Given the description of an element on the screen output the (x, y) to click on. 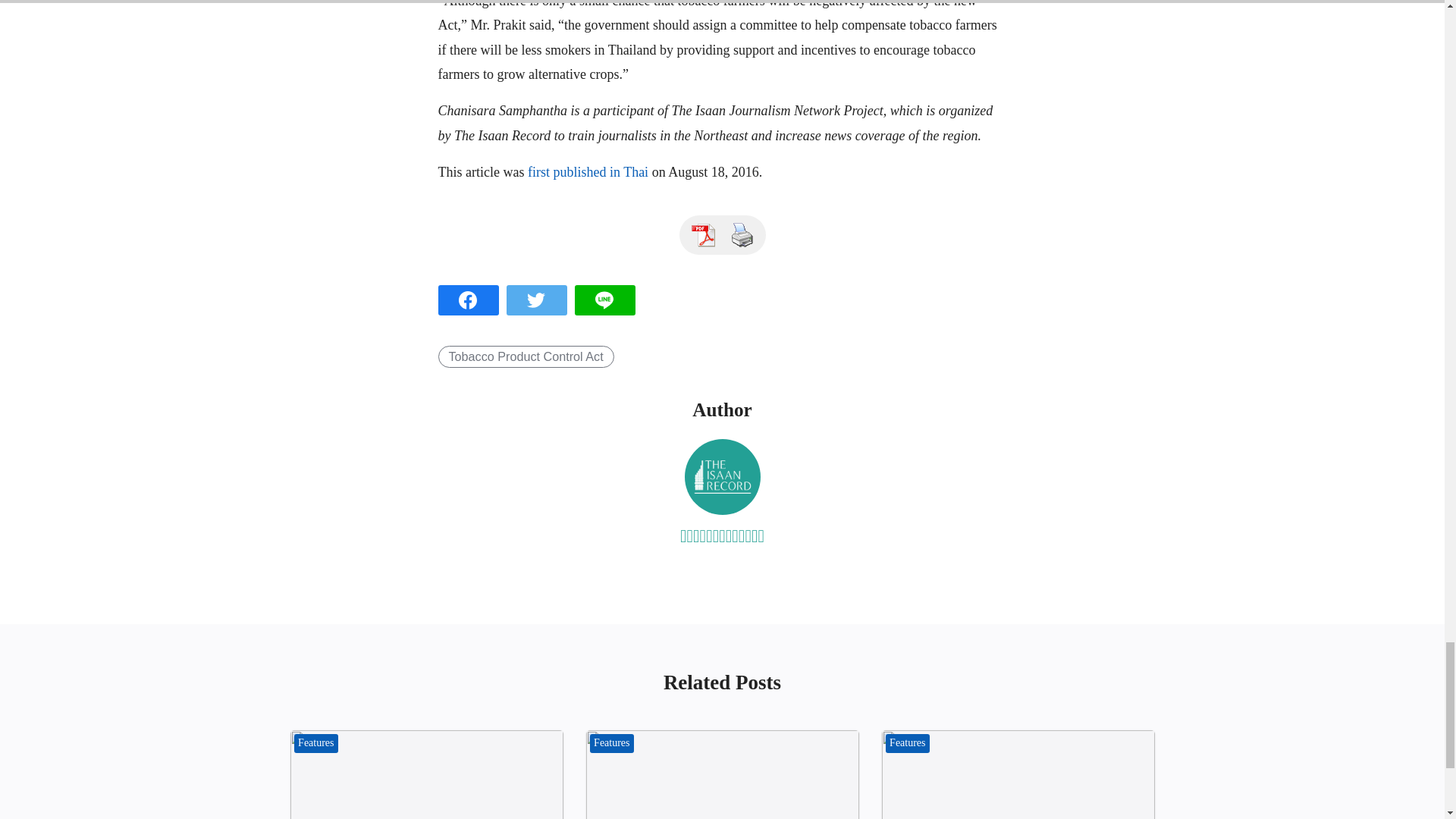
Features (316, 742)
View PDF (703, 234)
first published in Thai (587, 171)
Features (907, 742)
Tobacco Product Control Act (526, 356)
Print Content (742, 234)
Features (611, 742)
